Given the description of an element on the screen output the (x, y) to click on. 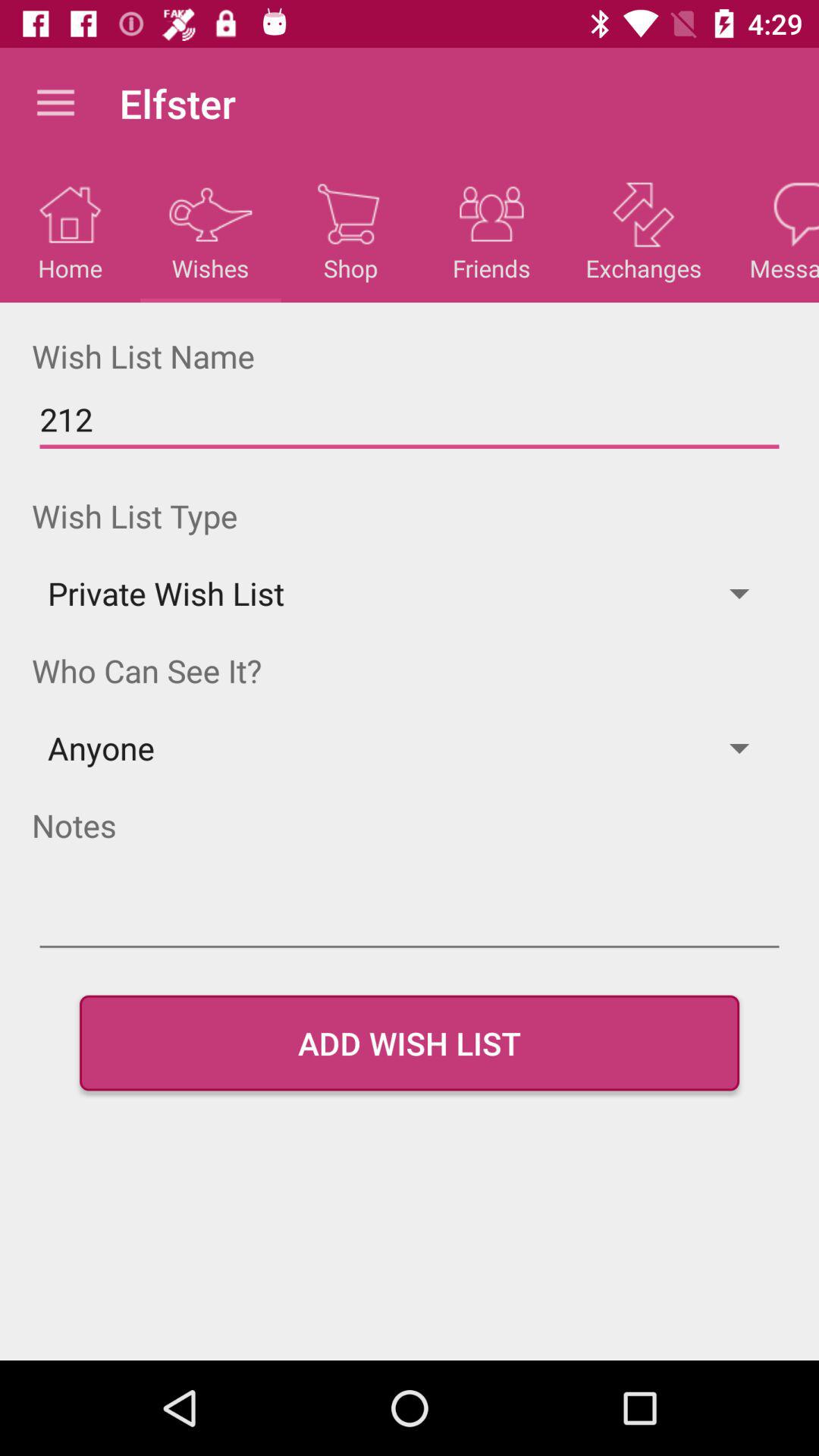
select the item to the left of elfster (55, 103)
